Given the description of an element on the screen output the (x, y) to click on. 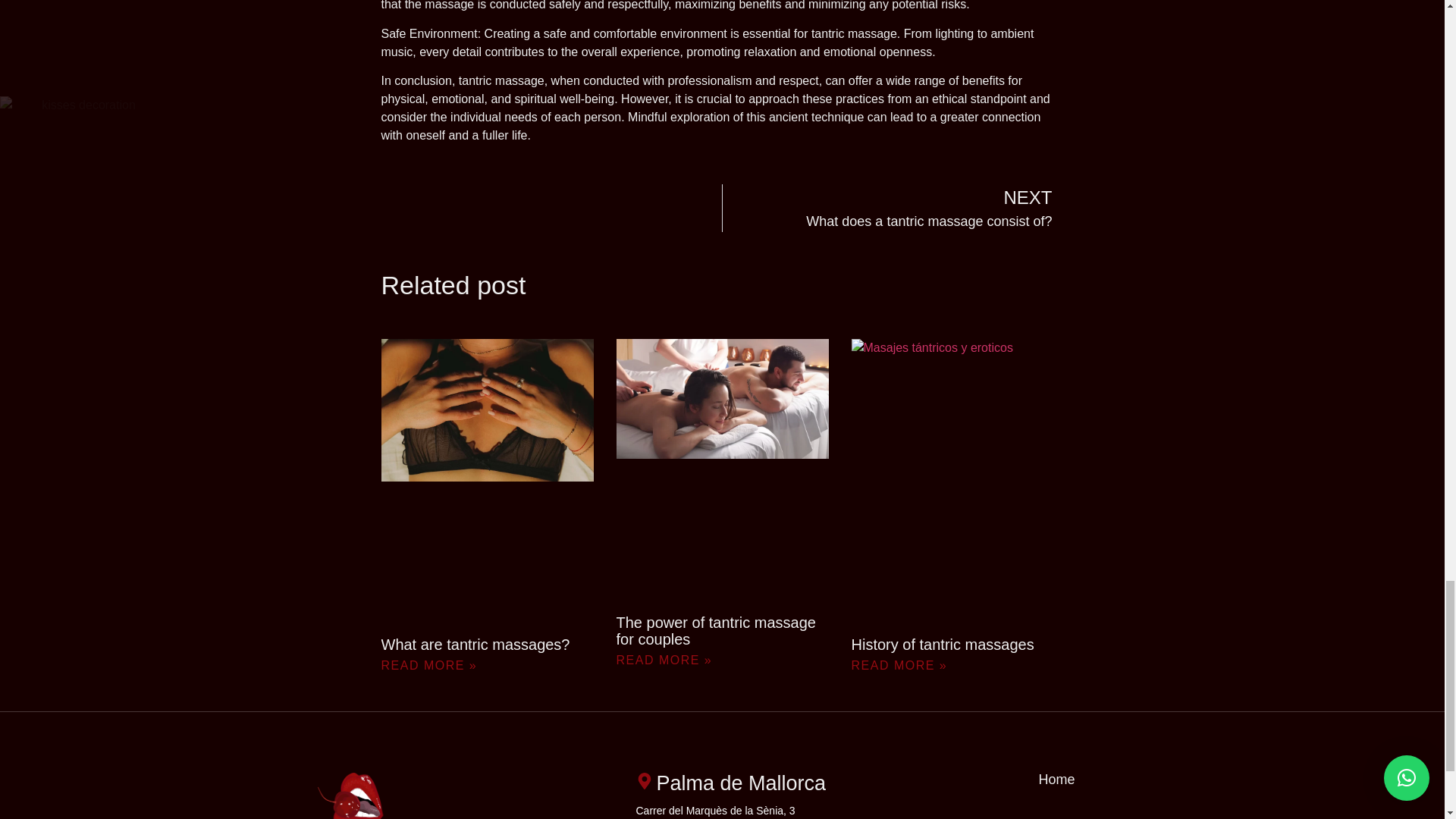
The power of tantric massage for couples (893, 207)
What are tantric massages? (715, 630)
